Given the description of an element on the screen output the (x, y) to click on. 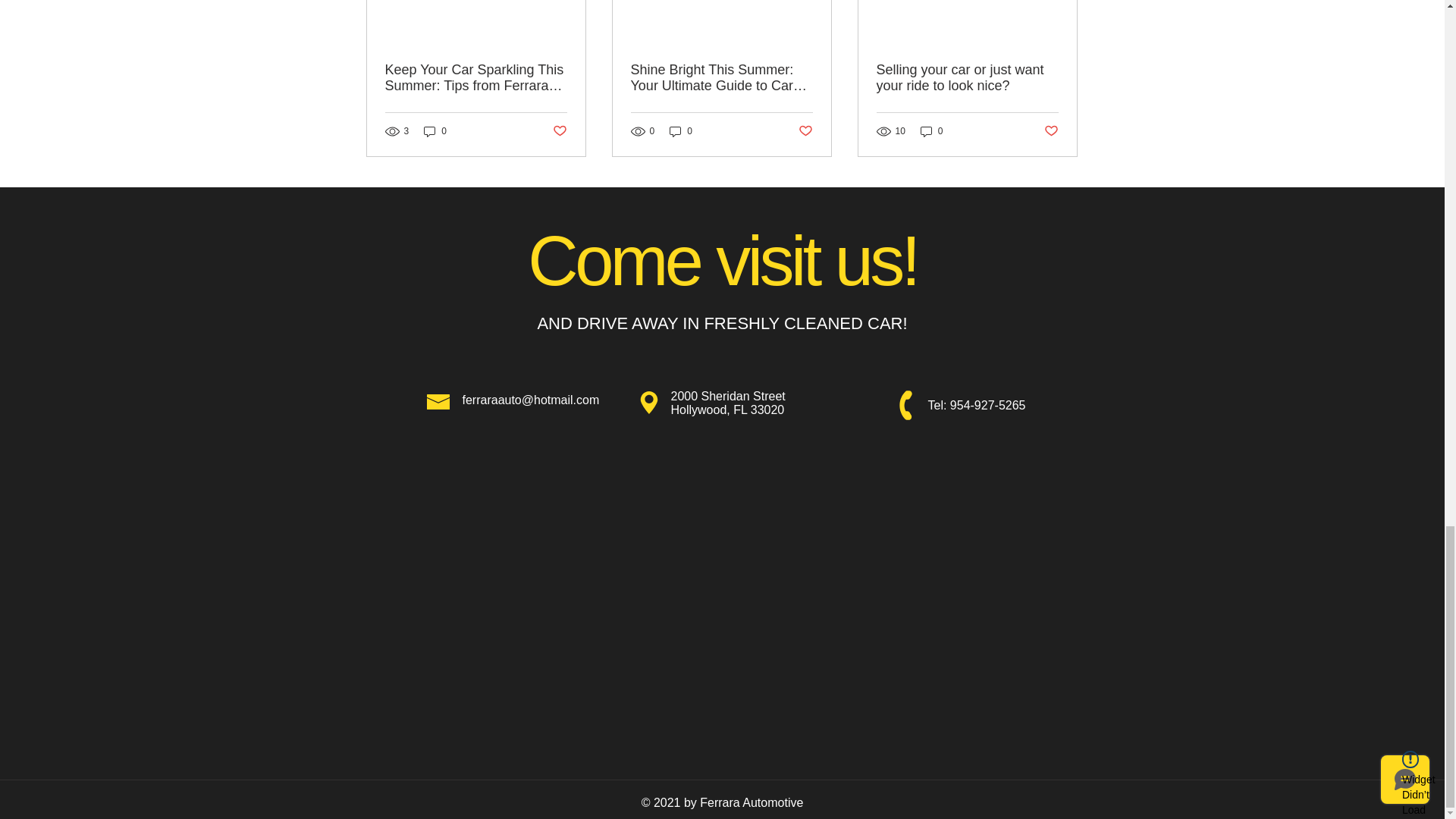
Shine Bright This Summer: Your Ultimate Guide to Car Washing (721, 78)
Google Maps (721, 580)
0 (931, 131)
Post not marked as liked (804, 131)
Selling your car or just want your ride to look nice? (967, 78)
0 (681, 131)
Post not marked as liked (558, 131)
0 (435, 131)
Post not marked as liked (1050, 131)
